Given the description of an element on the screen output the (x, y) to click on. 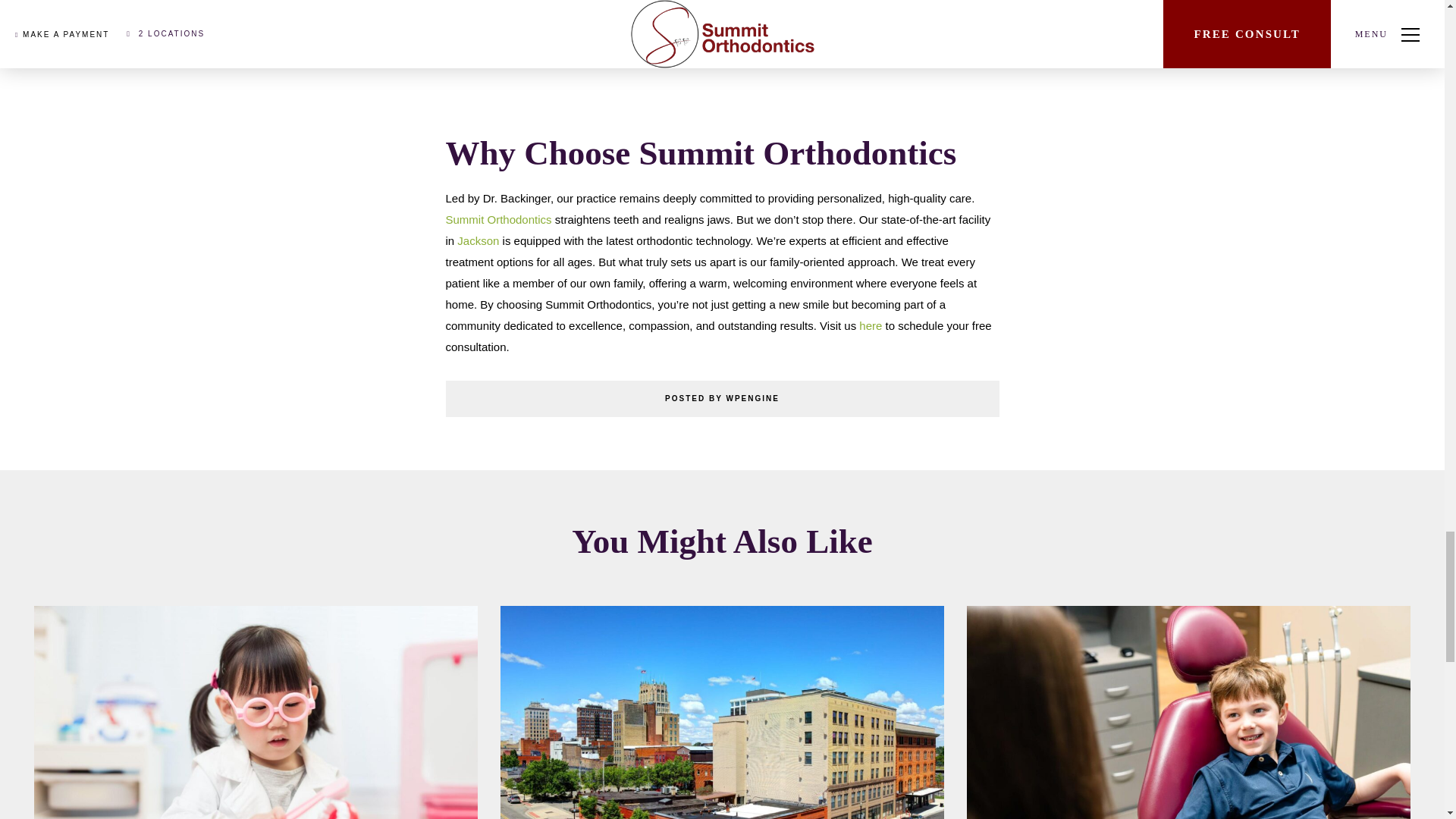
Tips for Aspiring Orthodontists (255, 712)
Fun Things to Do In Jackson, MI (721, 712)
Why Your Child Needs to See An Orthodontist by Age 7 (1188, 712)
